Given the description of an element on the screen output the (x, y) to click on. 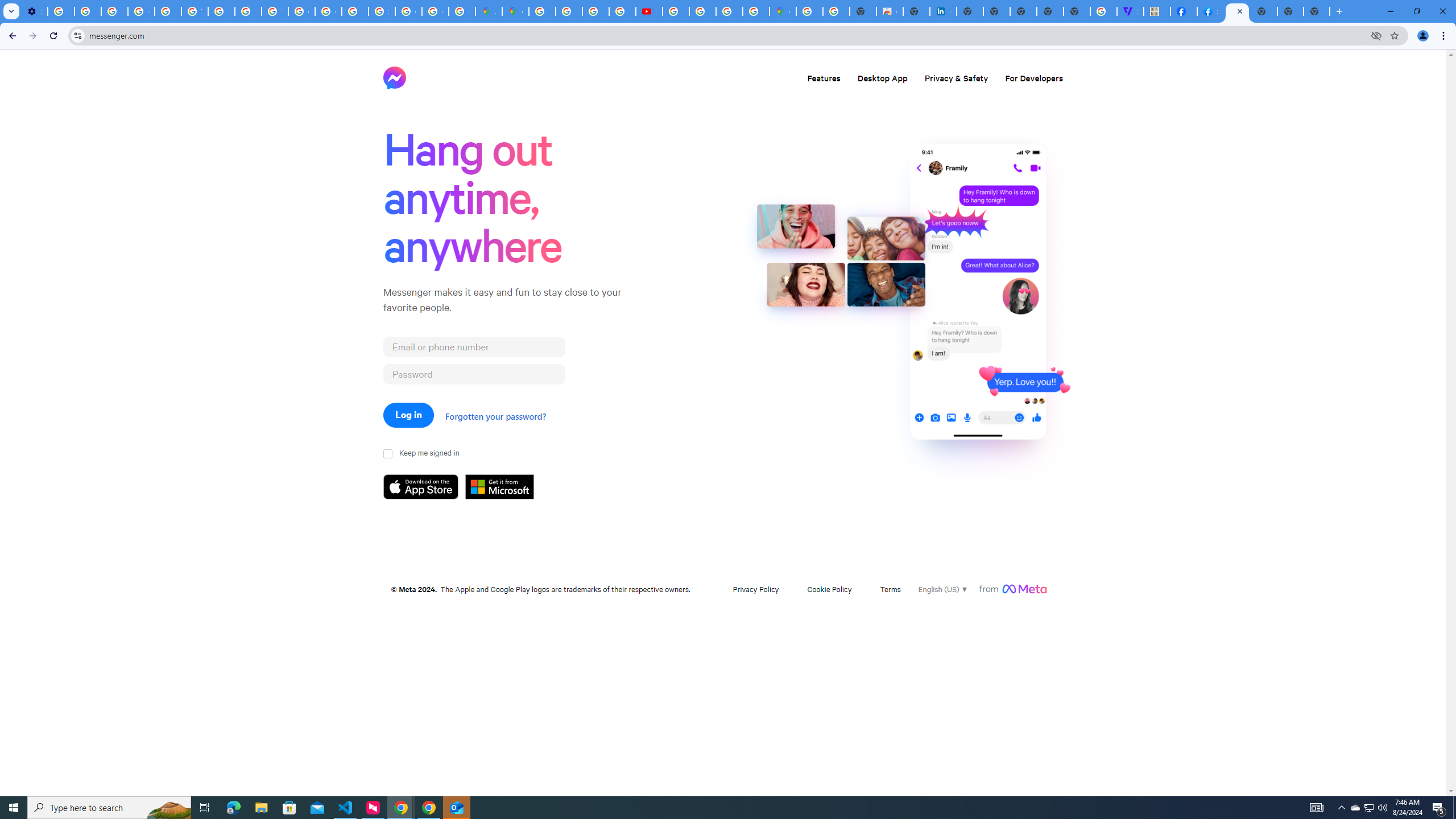
Privacy Help Center - Policies Help (248, 11)
